Given the description of an element on the screen output the (x, y) to click on. 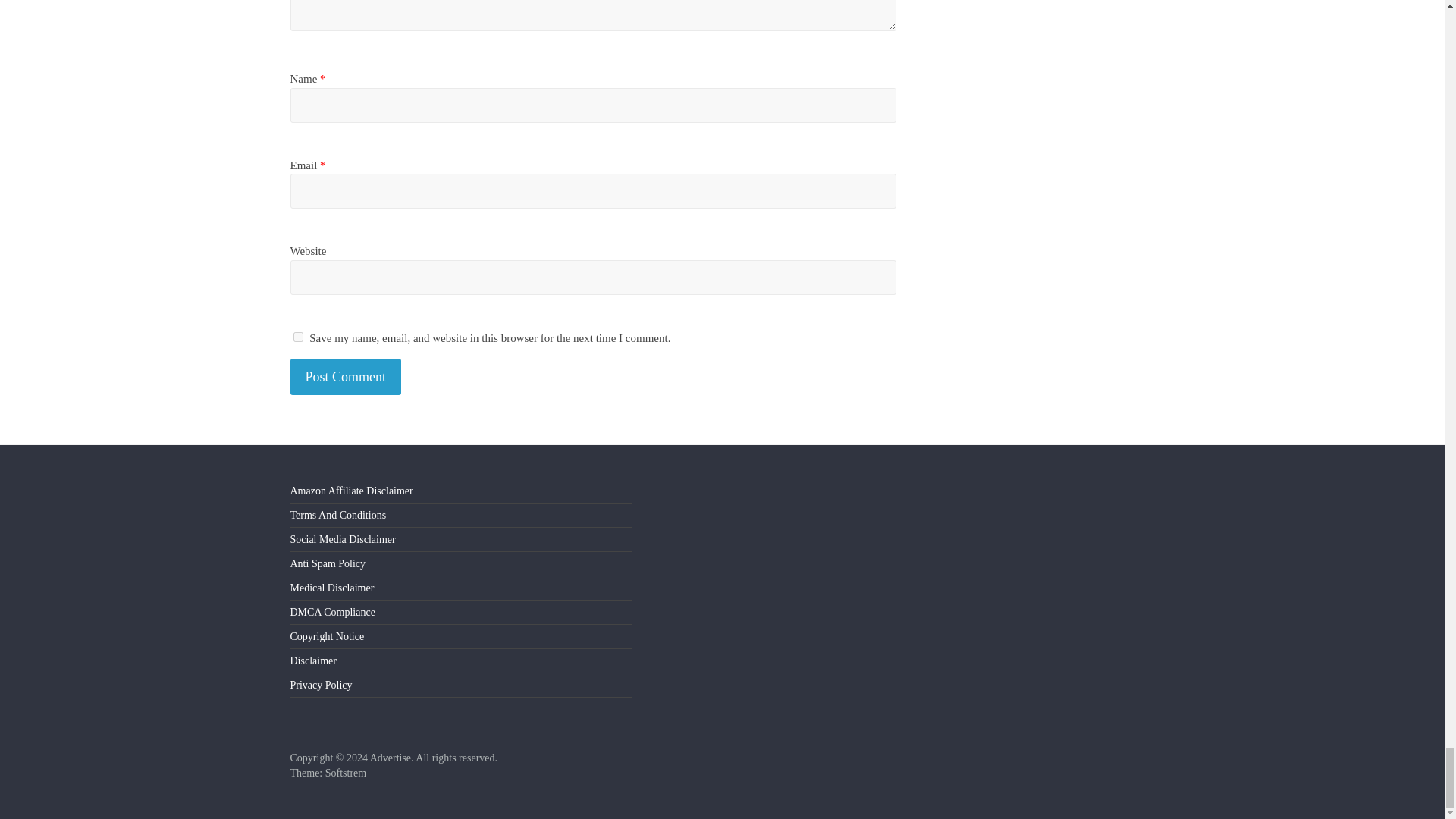
Post Comment (345, 376)
yes (297, 337)
Post Comment (345, 376)
